Given the description of an element on the screen output the (x, y) to click on. 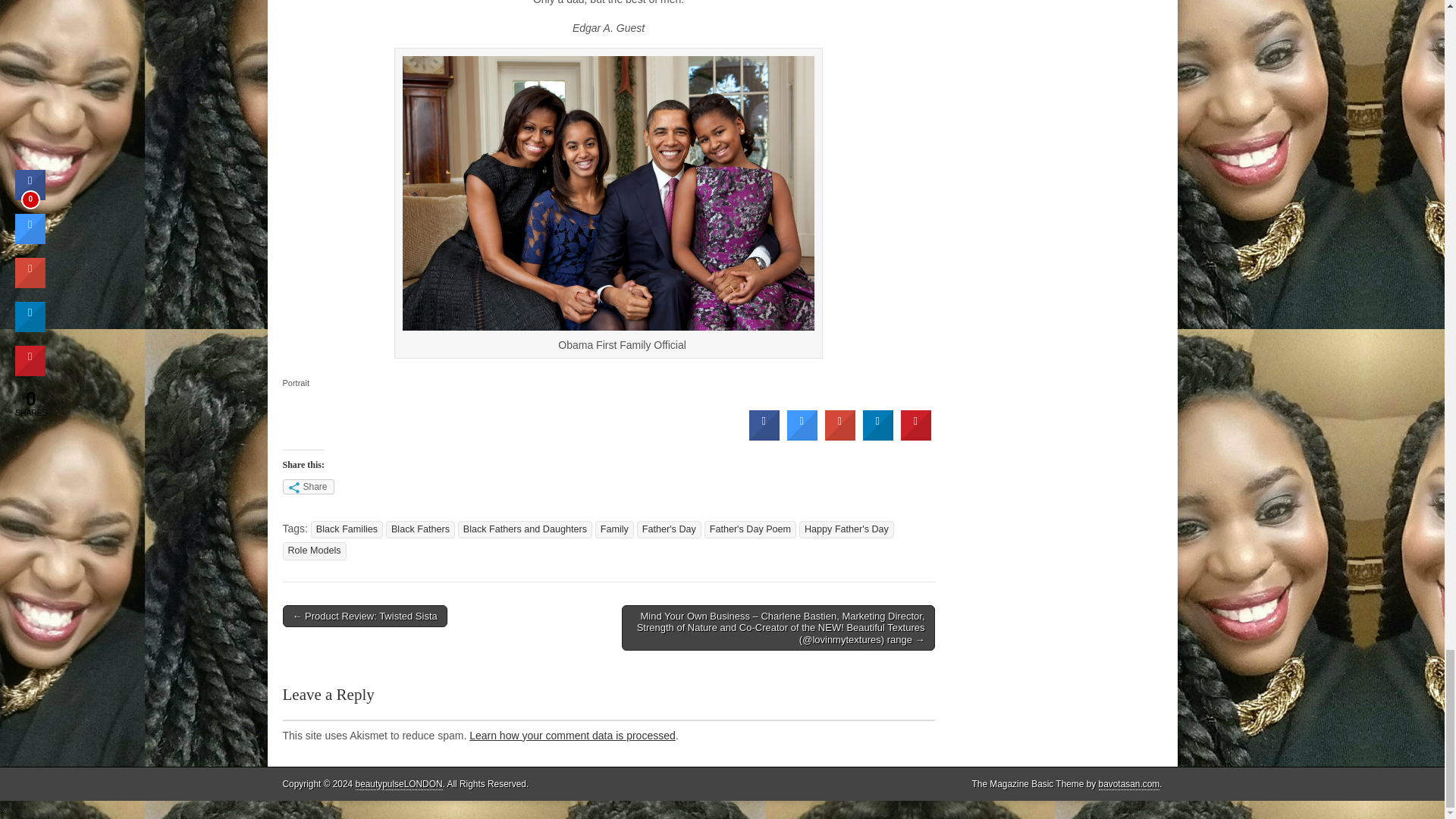
Share on Twitter (801, 436)
Share on Facebook (763, 436)
Obama Family Official Portrait (608, 193)
Share to LinkedIn (878, 436)
Share on Google Plus (840, 436)
